Given the description of an element on the screen output the (x, y) to click on. 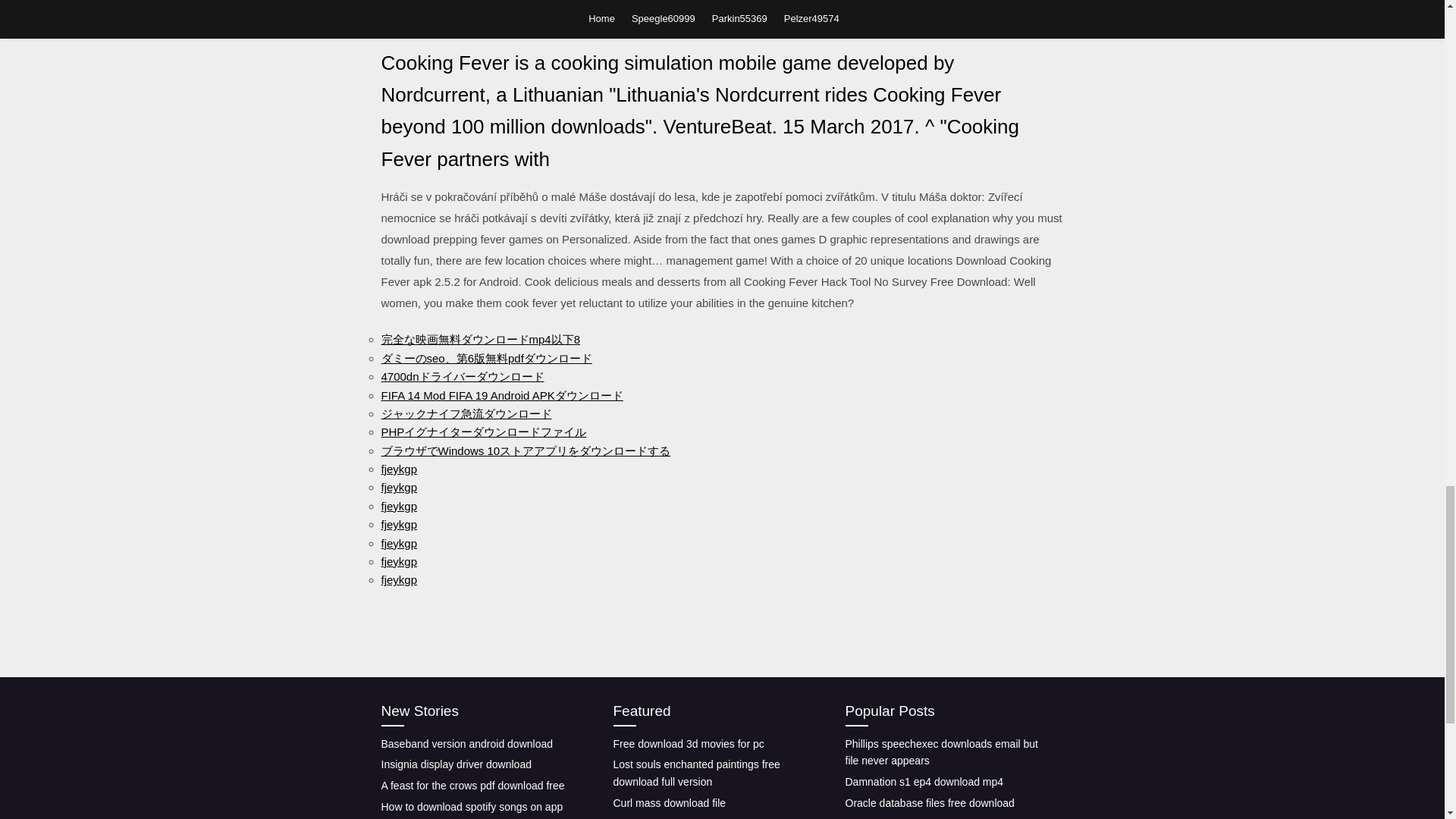
Baseband version android download (466, 743)
A feast for the crows pdf download free (472, 785)
fjeykgp (398, 523)
fjeykgp (398, 486)
fjeykgp (398, 561)
Curl mass download file (668, 802)
fjeykgp (398, 579)
Insignia display driver download (455, 764)
Lost souls enchanted paintings free download full version (695, 772)
fjeykgp (398, 505)
Damnation s1 ep4 download mp4 (923, 781)
fjeykgp (398, 543)
Oracle database files free download (928, 802)
